Given the description of an element on the screen output the (x, y) to click on. 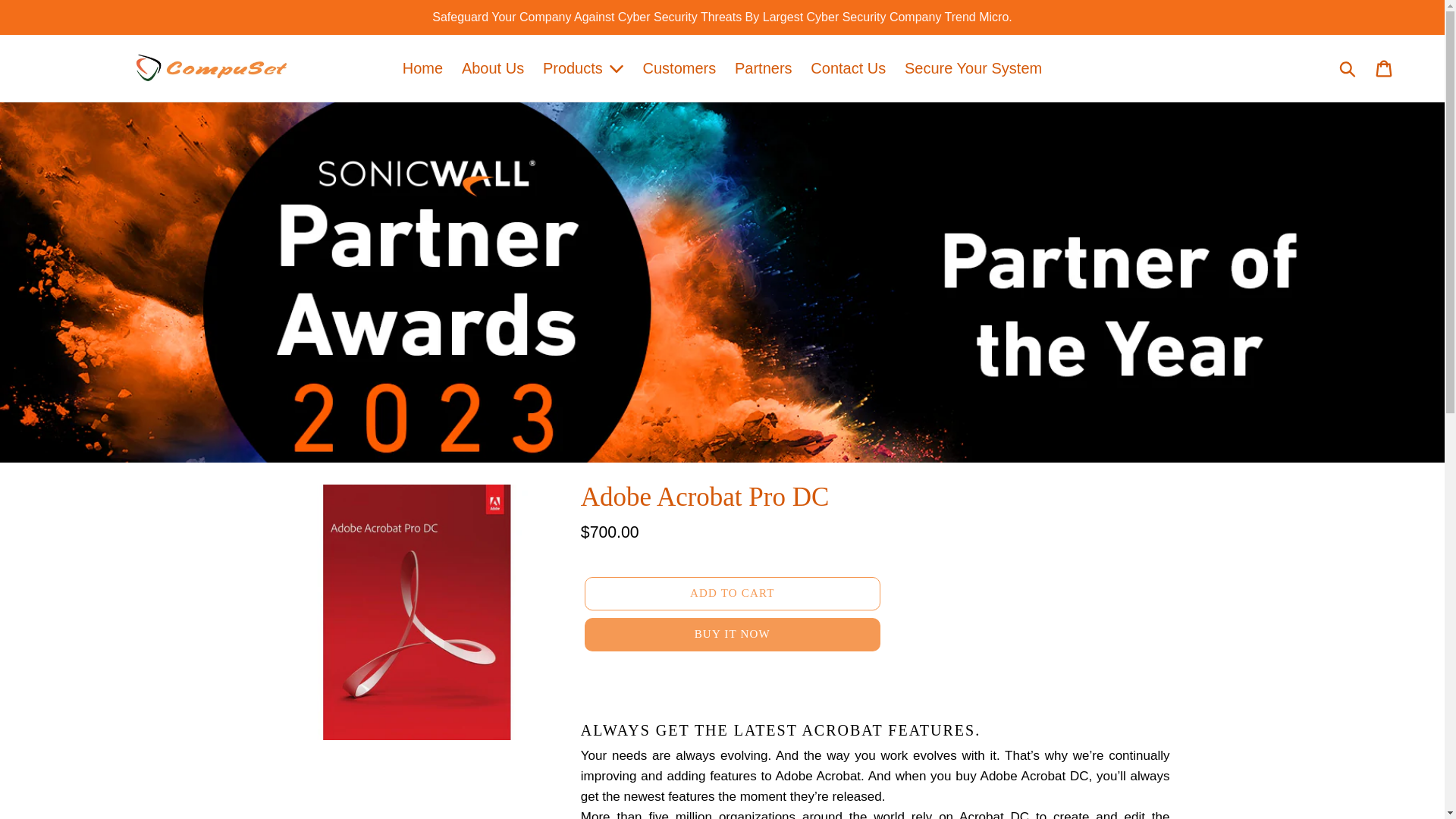
BUY IT NOW (732, 634)
Cart (1385, 67)
ADD TO CART (732, 593)
Secure Your System (972, 68)
About Us (492, 68)
Customers (678, 68)
Home (421, 68)
Partners (762, 68)
Submit (1348, 68)
Contact Us (848, 68)
